Given the description of an element on the screen output the (x, y) to click on. 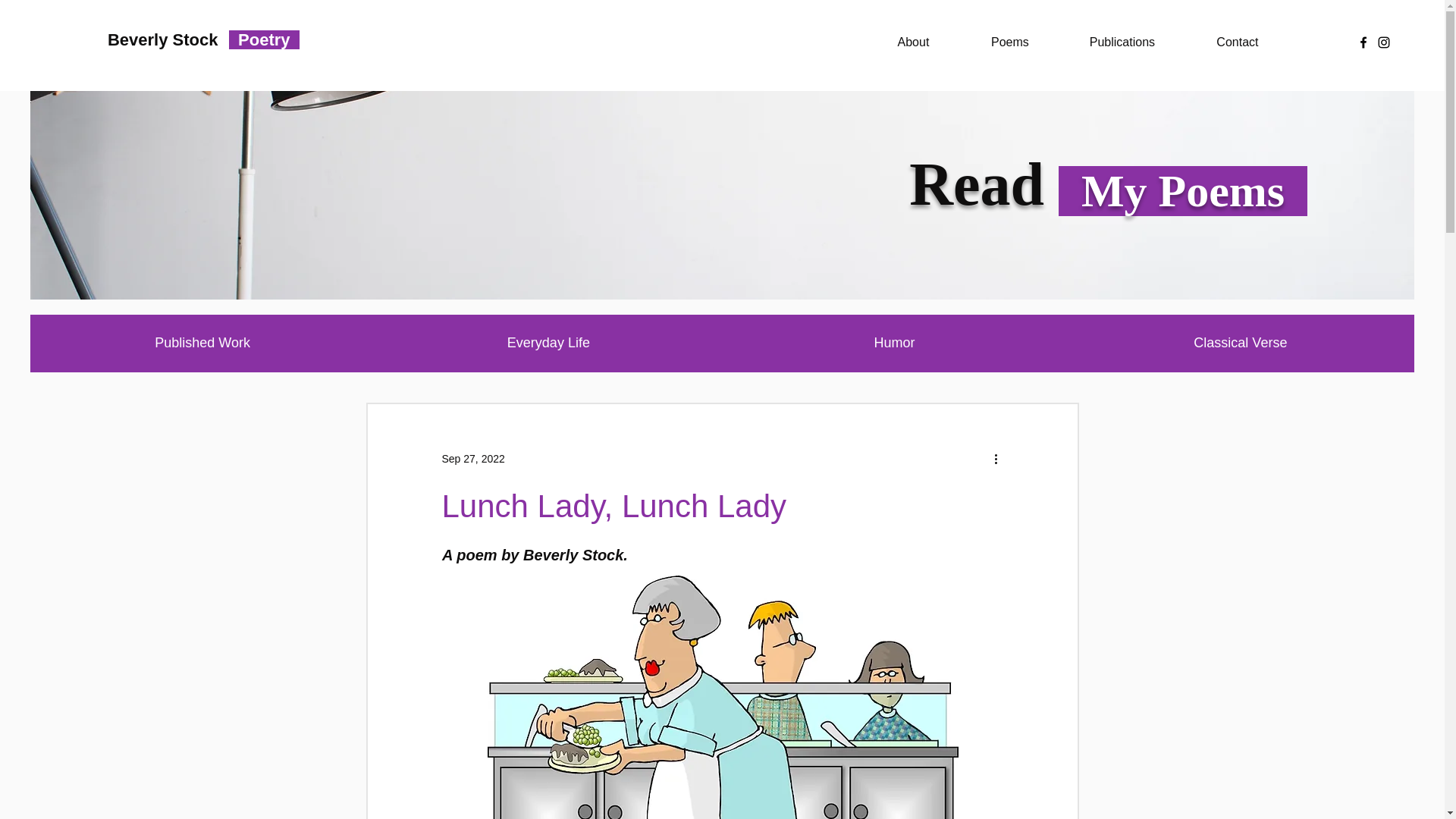
  Poetry   (263, 39)
Humor (893, 342)
Classical Verse (1240, 342)
Published Work (201, 342)
Beverly Stock (162, 39)
Sep 27, 2022 (472, 458)
About (912, 42)
Poems (1009, 42)
Contact (1236, 42)
Publications (1121, 42)
